Given the description of an element on the screen output the (x, y) to click on. 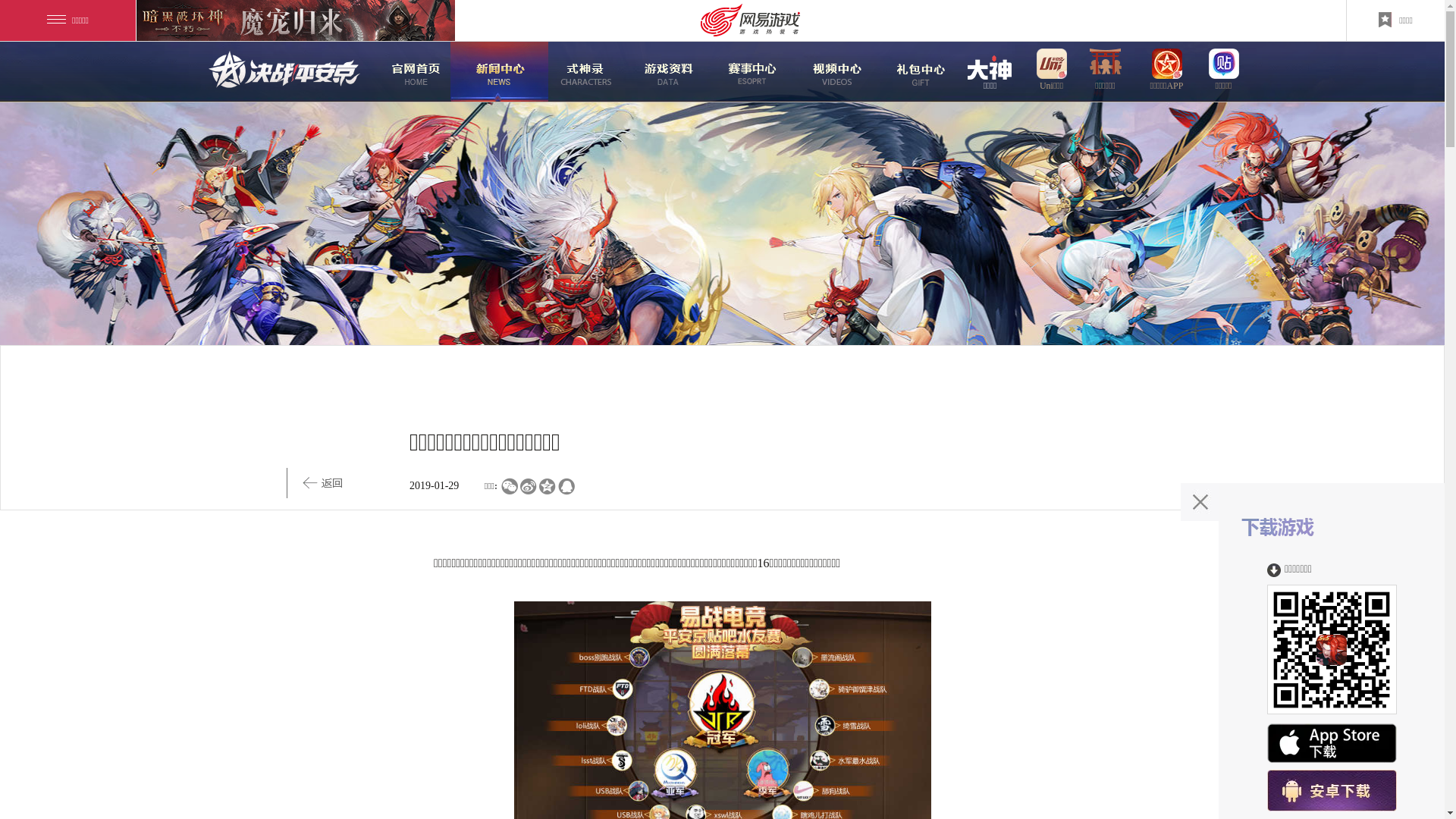
logo Element type: hover (283, 63)
